Given the description of an element on the screen output the (x, y) to click on. 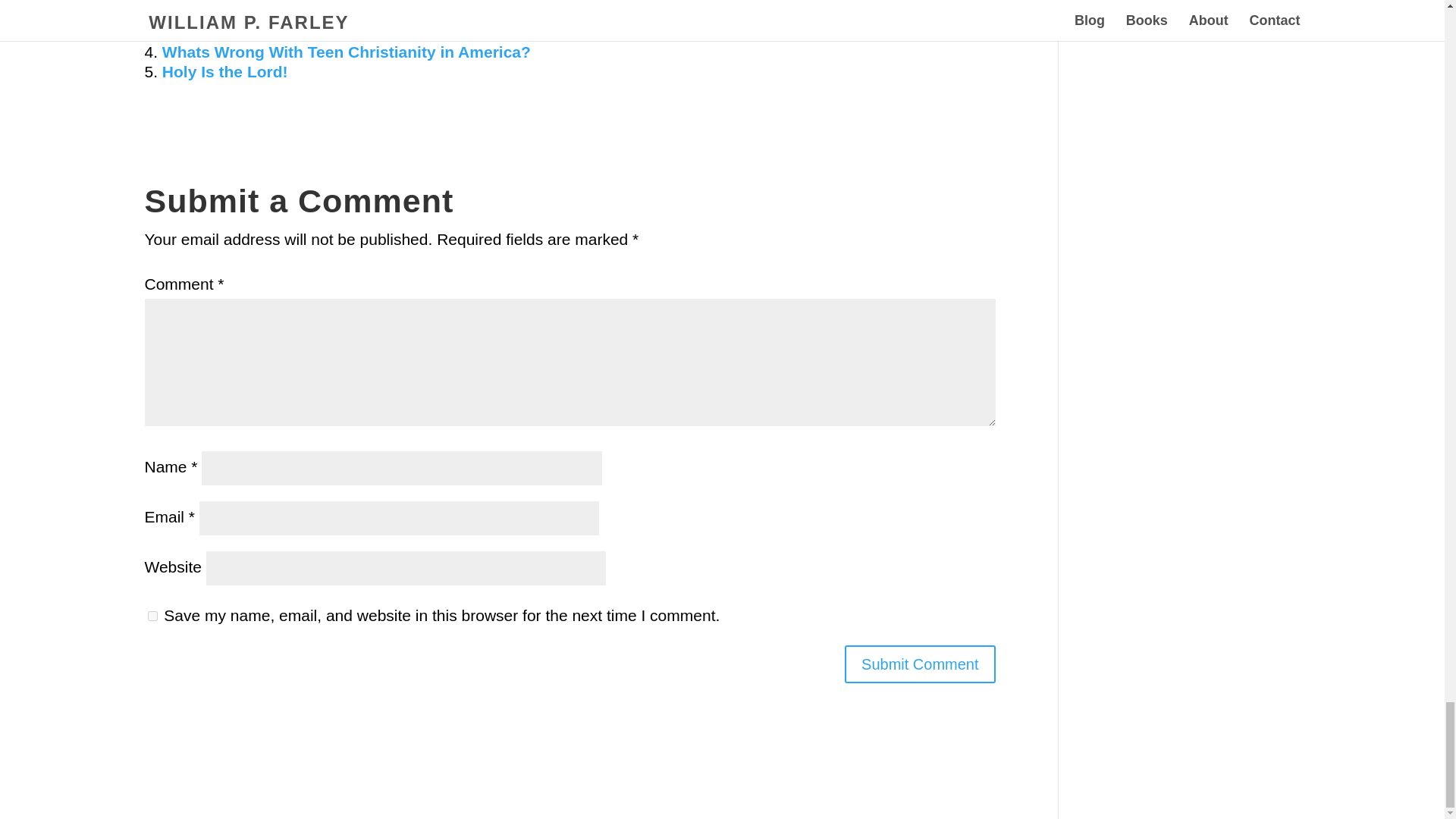
Parents Are Failing to Pass the Baton of Faith (333, 31)
Holy Is the Lord! (224, 71)
Parents Are Failing to Pass the Baton of Faith (333, 31)
Whats Wrong With Teen Christianity in America? (346, 51)
Submit Comment (919, 664)
Holy Is the Lord! (224, 71)
Submit Comment (919, 664)
yes (152, 615)
Whats Wrong With Teen Christianity in America? (346, 51)
